Given the description of an element on the screen output the (x, y) to click on. 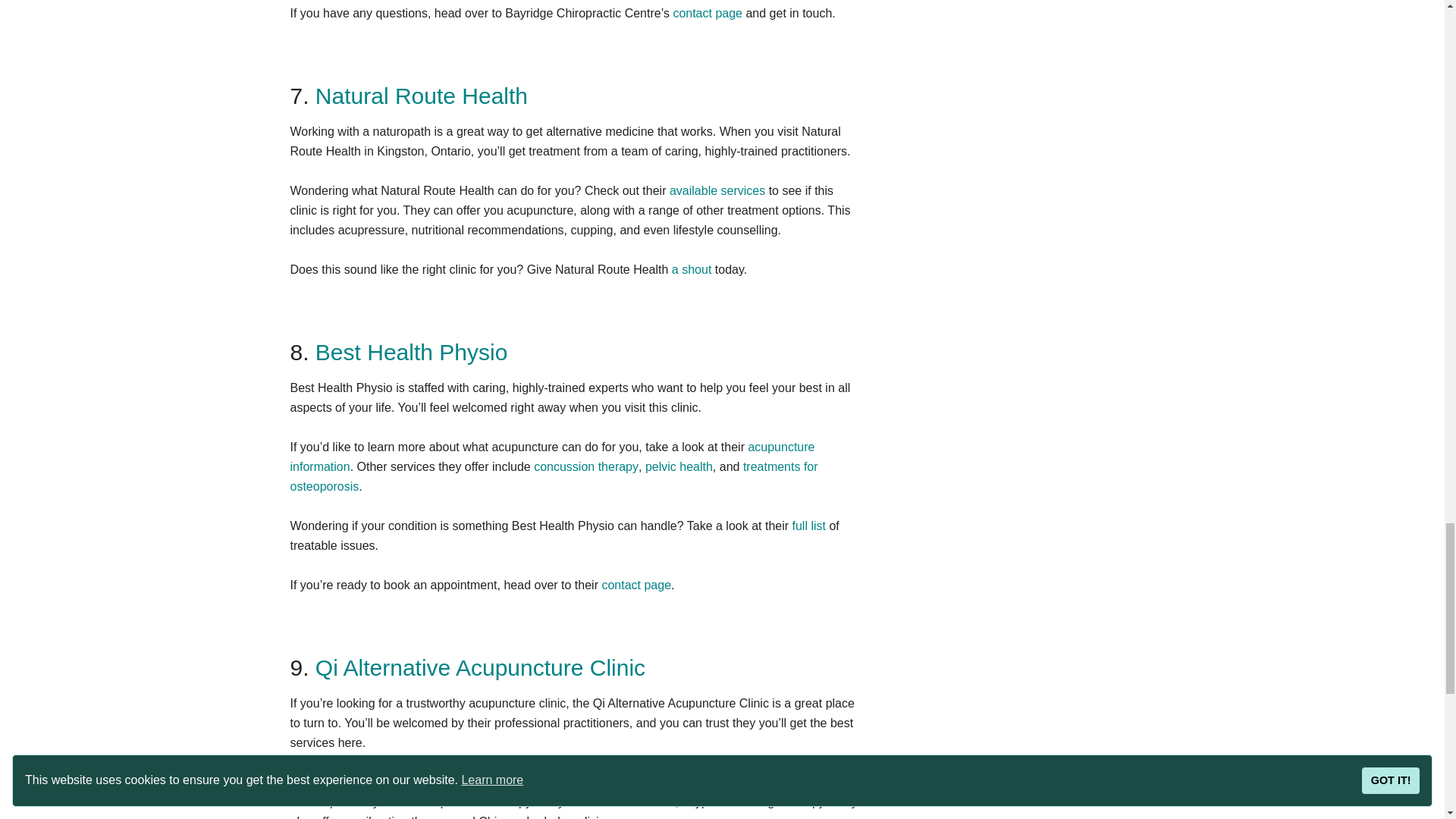
Natural Route Health (421, 95)
contact page (707, 12)
